Given the description of an element on the screen output the (x, y) to click on. 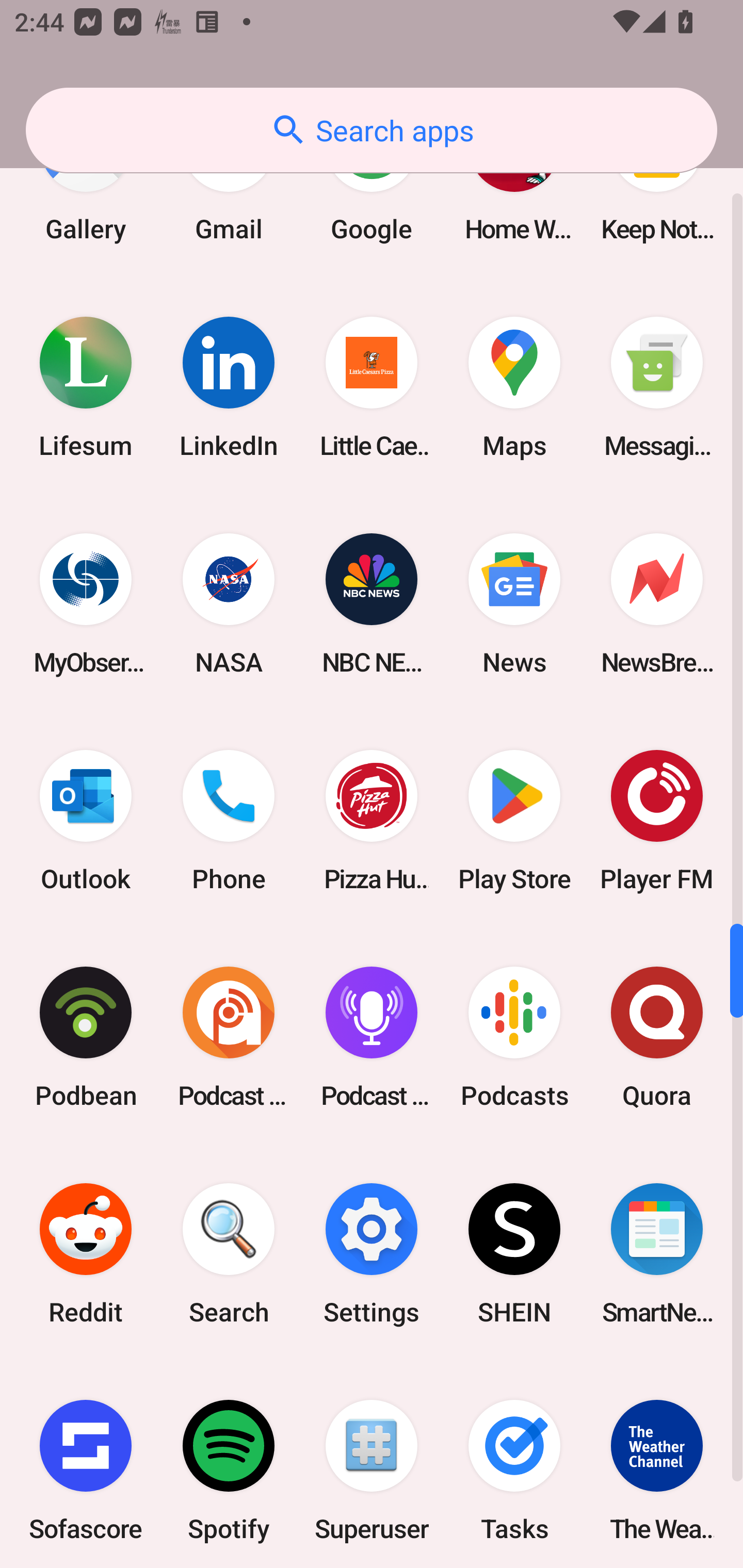
  Search apps (371, 130)
Lifesum (85, 387)
LinkedIn (228, 387)
Little Caesars Pizza (371, 387)
Maps (514, 387)
Messaging (656, 387)
MyObservatory (85, 603)
NASA (228, 603)
NBC NEWS (371, 603)
News (514, 603)
NewsBreak (656, 603)
Outlook (85, 819)
Phone (228, 819)
Pizza Hut HK & Macau (371, 819)
Play Store (514, 819)
Player FM (656, 819)
Podbean (85, 1037)
Podcast Addict (228, 1037)
Podcast Player (371, 1037)
Podcasts (514, 1037)
Quora (656, 1037)
Reddit (85, 1254)
Search (228, 1254)
Settings (371, 1254)
SHEIN (514, 1254)
SmartNews (656, 1254)
Sofascore (85, 1465)
Spotify (228, 1465)
Superuser (371, 1465)
Tasks (514, 1465)
The Weather Channel (656, 1465)
